Given the description of an element on the screen output the (x, y) to click on. 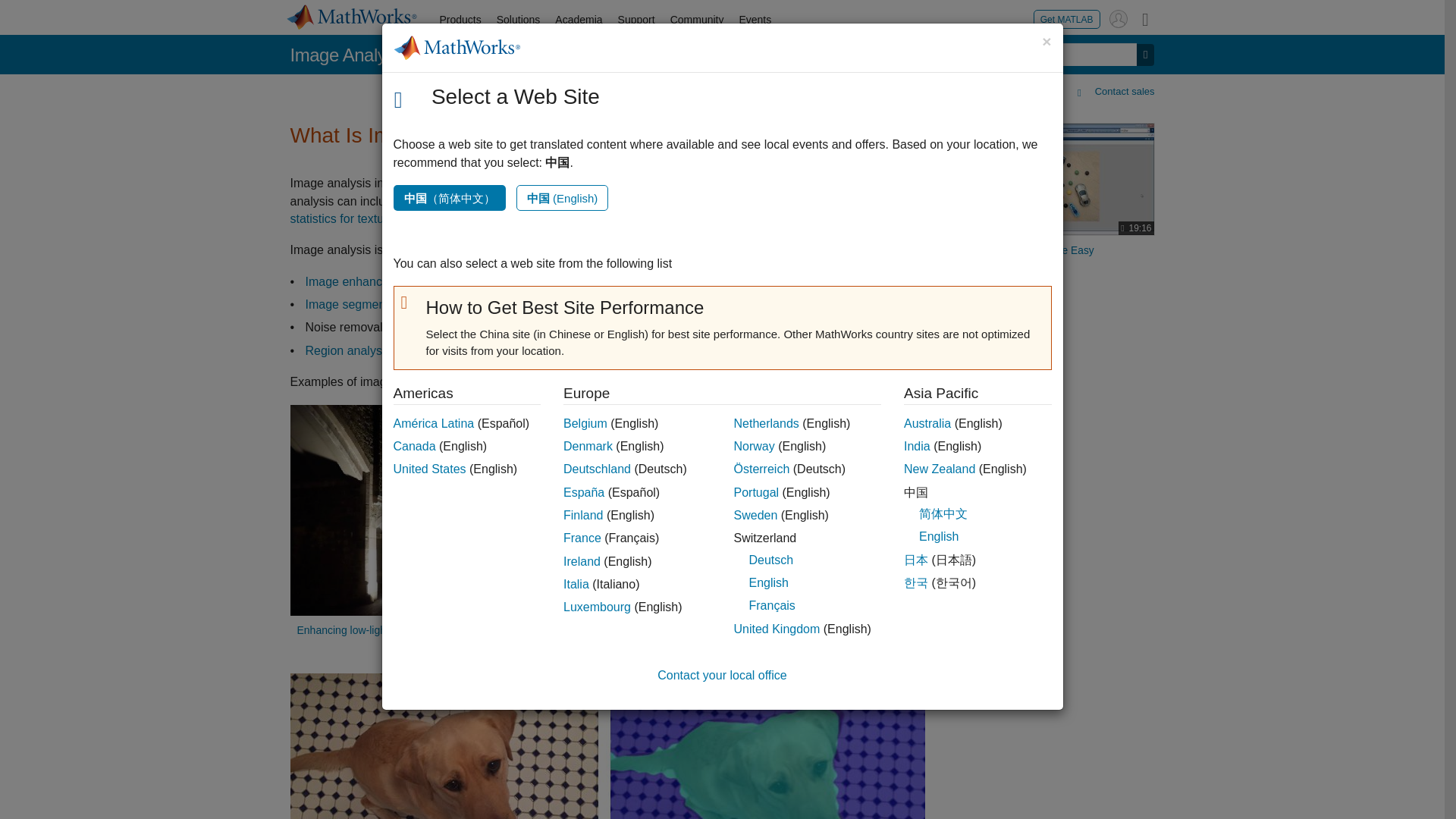
Get MATLAB (1066, 18)
Products (460, 19)
Sign In to Your MathWorks Account (1117, 18)
Academia (578, 19)
Community (697, 19)
Events (754, 19)
Solutions (518, 19)
Support (636, 19)
